Given the description of an element on the screen output the (x, y) to click on. 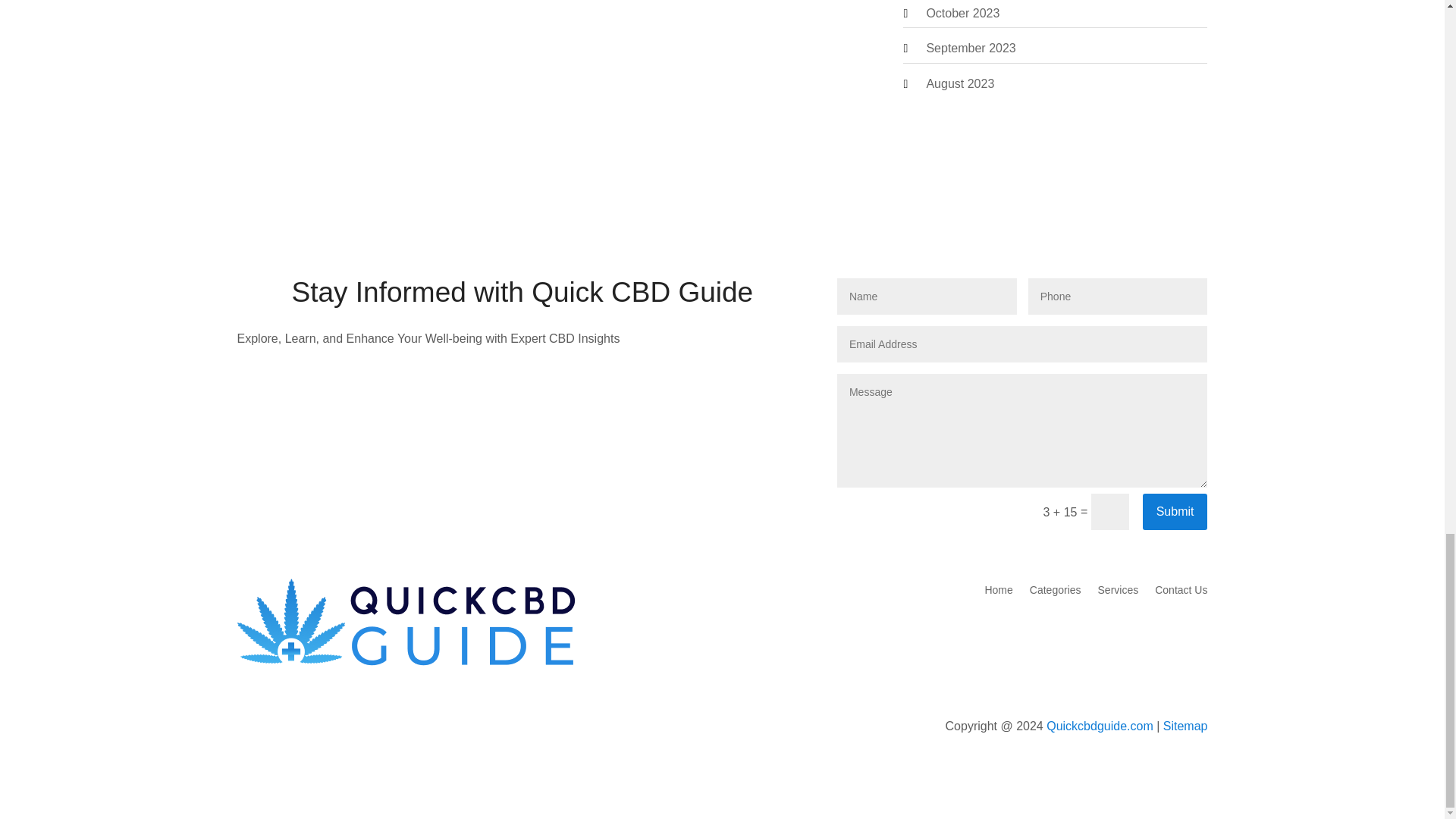
quickcbdguide-logo (405, 622)
Follow on Facebook (247, 727)
Follow on Youtube (309, 727)
Follow on Twitter (278, 727)
Follow on LinkedIn (339, 727)
